Given the description of an element on the screen output the (x, y) to click on. 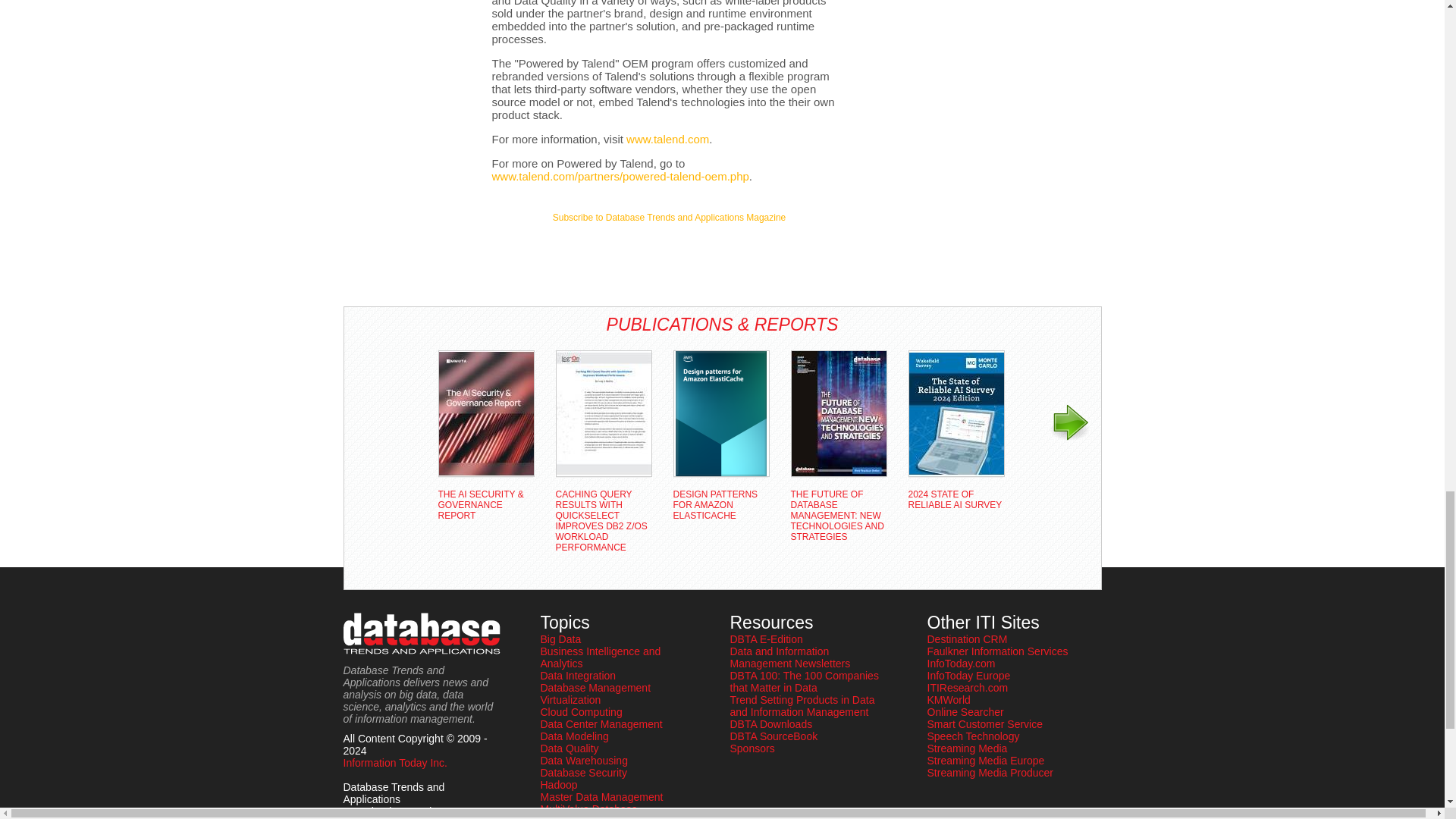
3rd party ad content (668, 253)
3rd party ad content (403, 46)
